Given the description of an element on the screen output the (x, y) to click on. 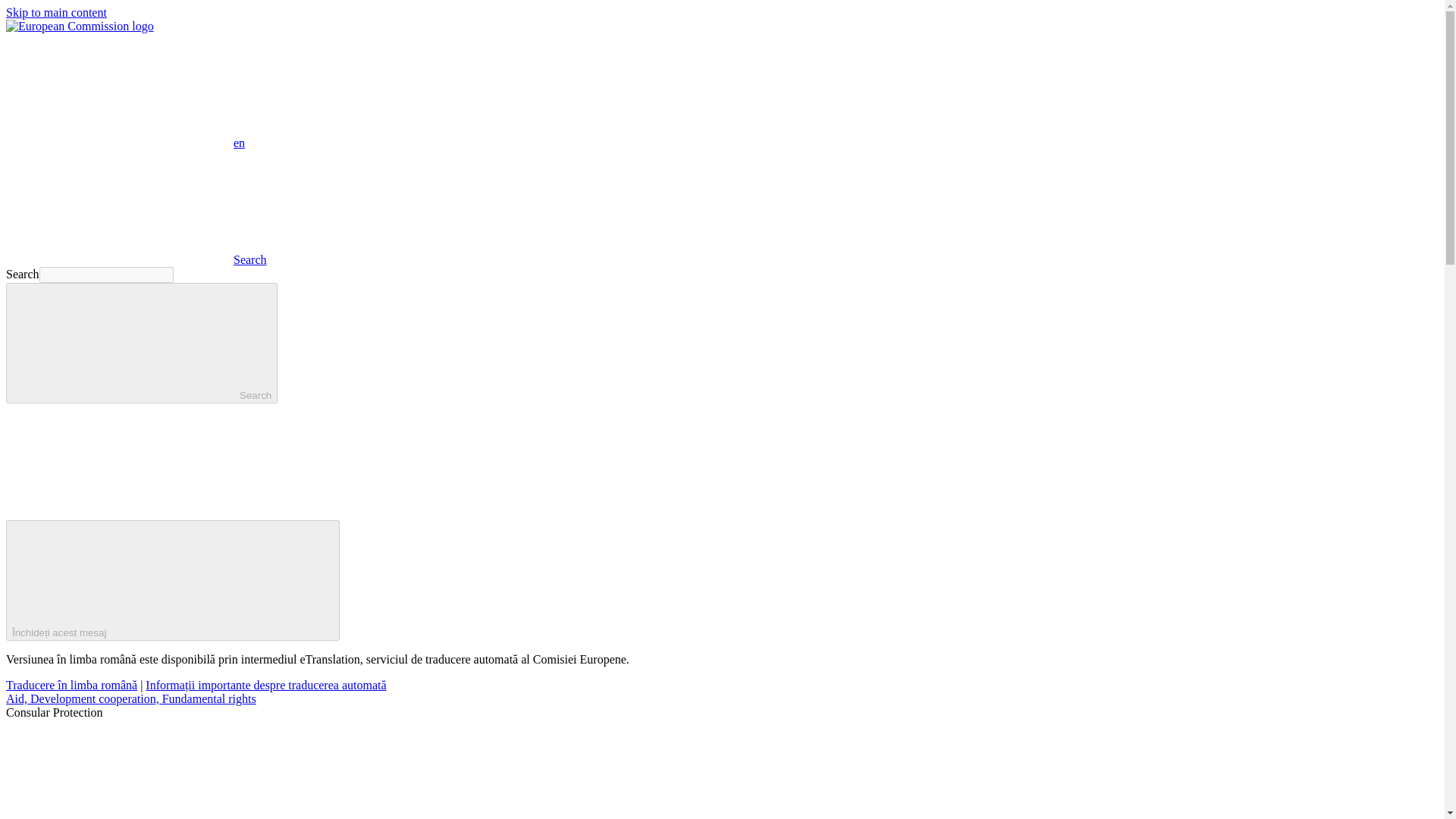
enen (124, 142)
European Commission (79, 25)
en (118, 90)
Skip to main content (55, 11)
Search (135, 259)
Aid, Development cooperation, Fundamental rights (130, 698)
Search (141, 342)
